Given the description of an element on the screen output the (x, y) to click on. 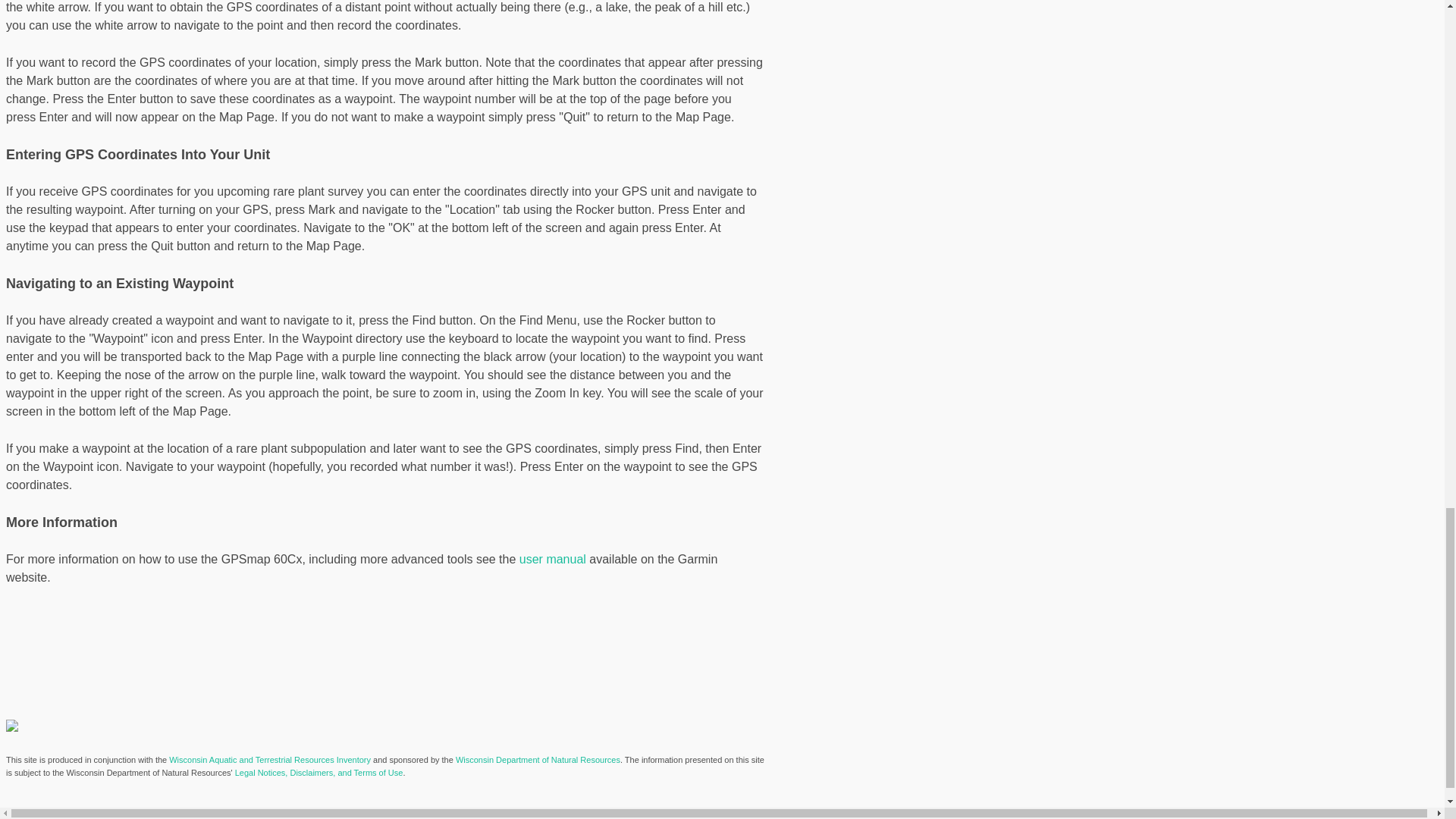
Wisconsin Aquatic and Terrestrial Resources Inventory (269, 759)
Wisconsin Department of Natural Resources (537, 759)
Legal Notices, Disclaimers, and Terms of Use (318, 772)
user manual (552, 558)
